Given the description of an element on the screen output the (x, y) to click on. 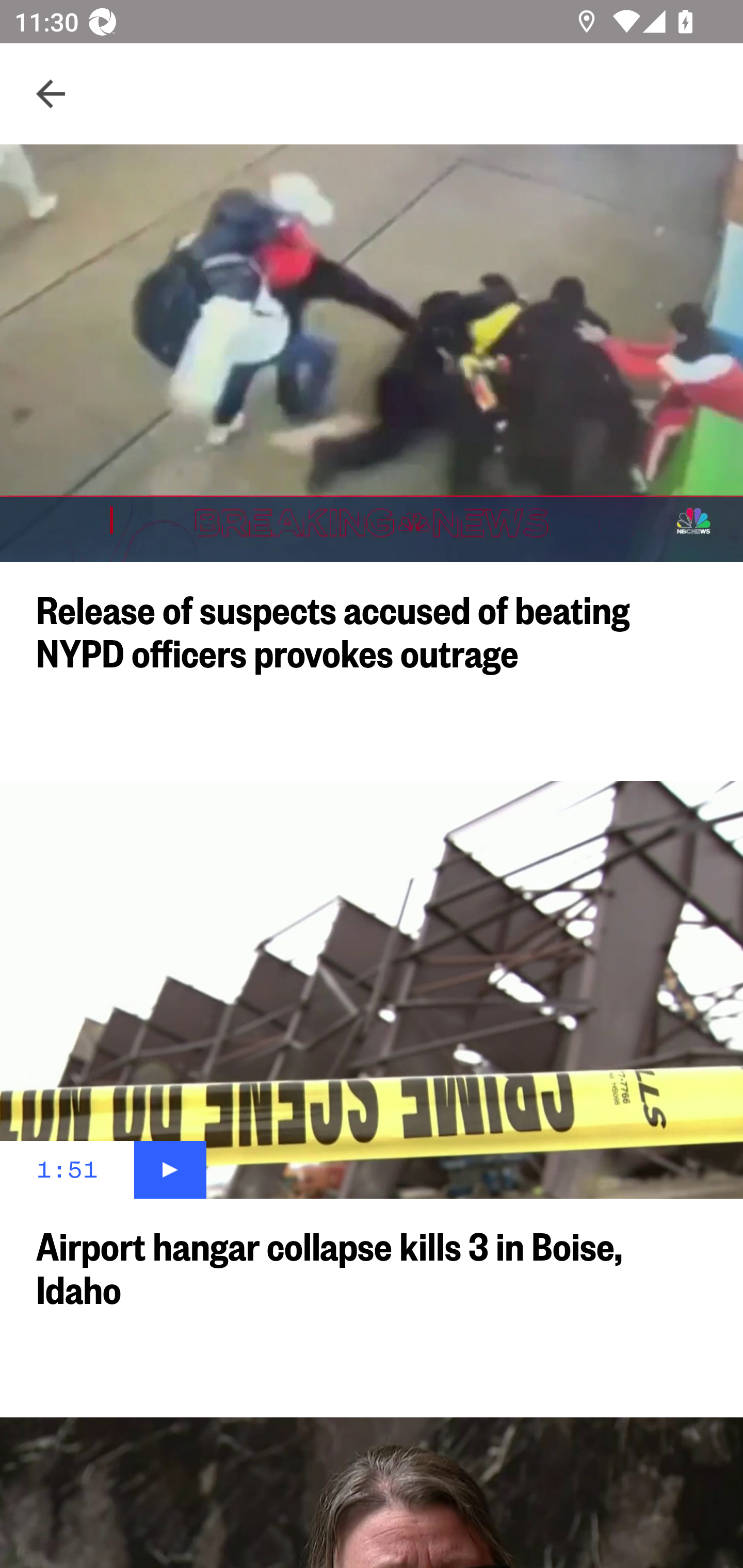
Navigate up (50, 93)
